Given the description of an element on the screen output the (x, y) to click on. 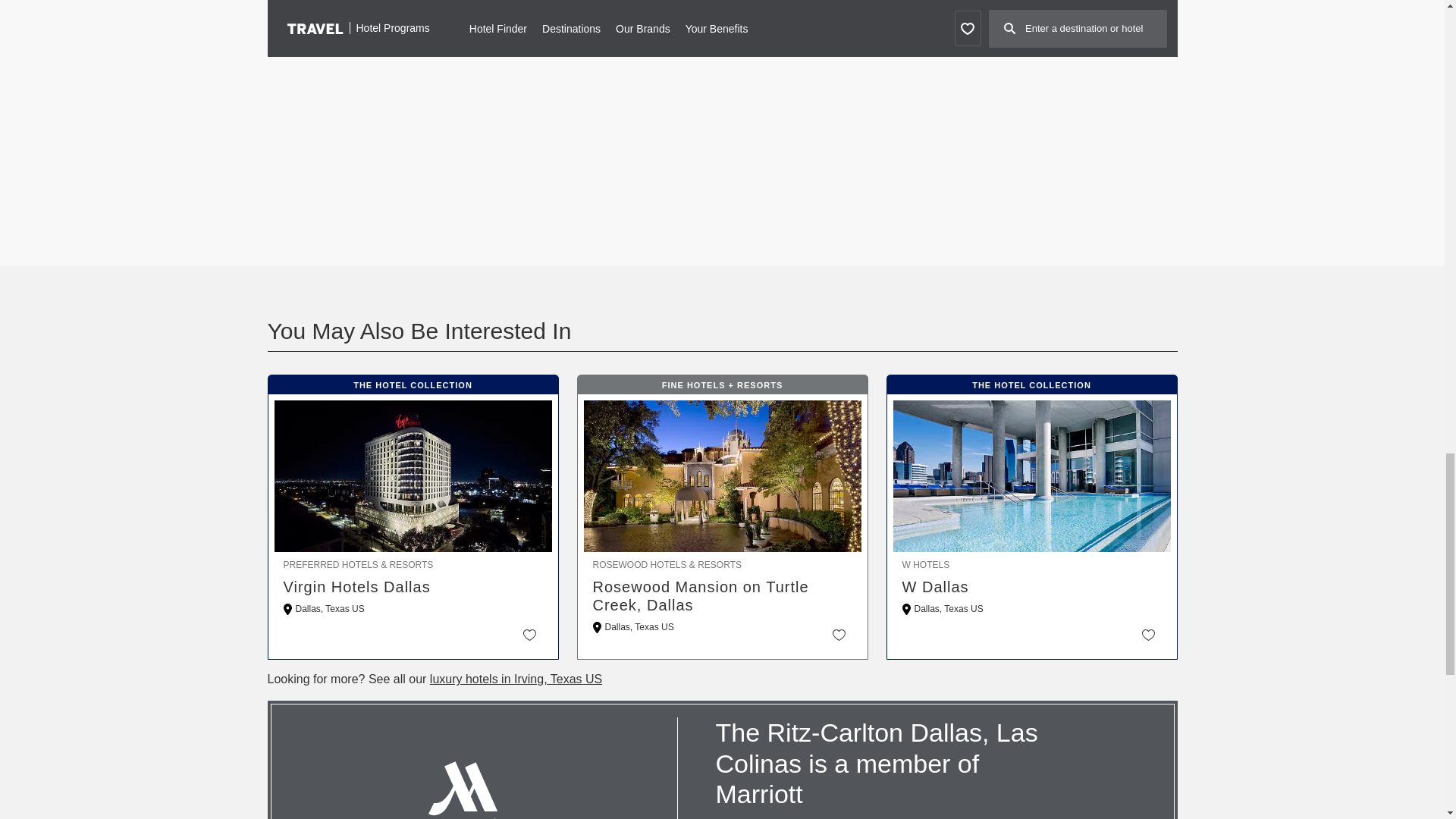
W Dallas (1031, 587)
luxury hotels in Irving, Texas US (515, 678)
Virgin Hotels Dallas (413, 587)
Rosewood Mansion on Turtle Creek, Dallas (721, 596)
